Given the description of an element on the screen output the (x, y) to click on. 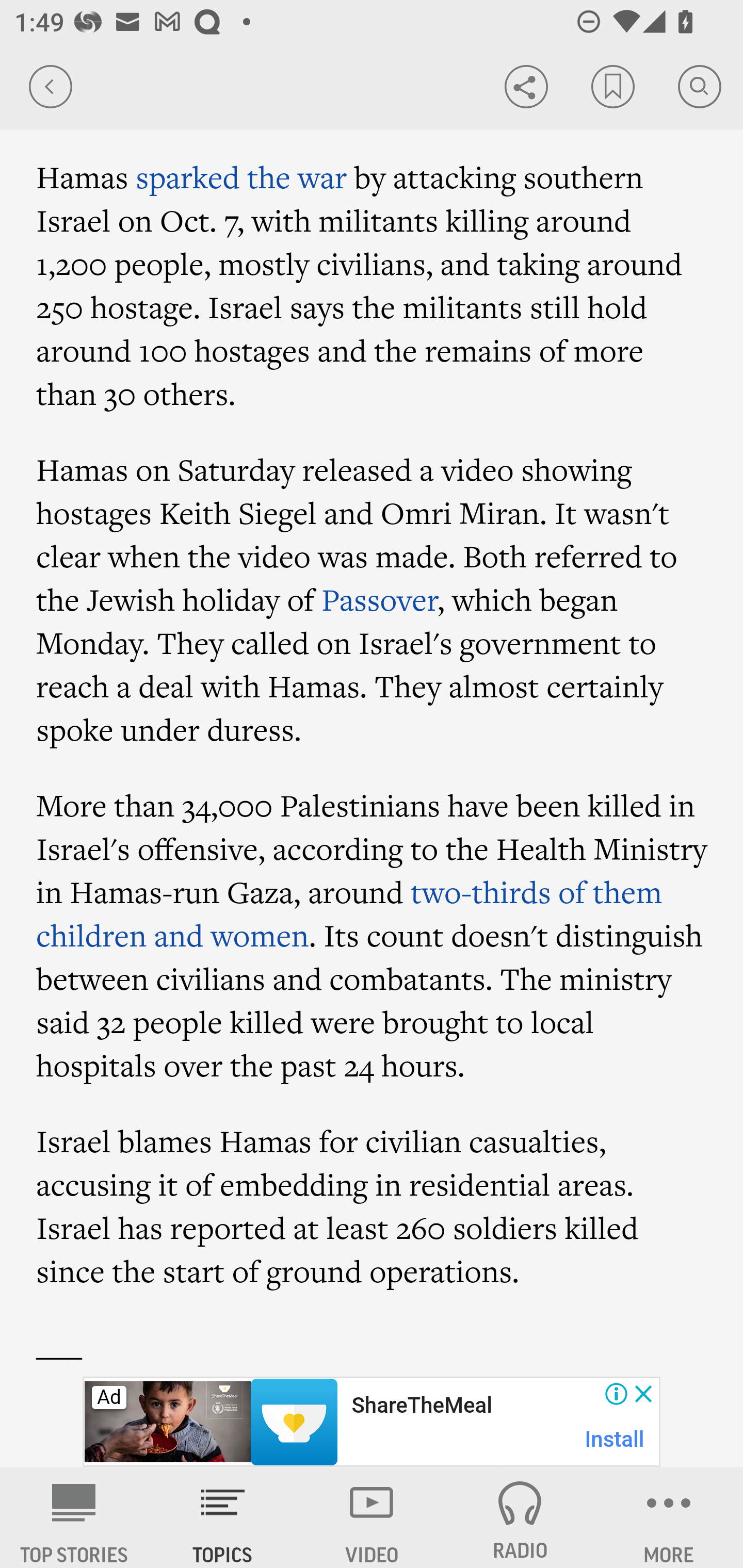
sparked the war (241, 177)
Passover (379, 598)
two-thirds of them children and women (349, 912)
ShareTheMeal (420, 1405)
Install (614, 1438)
AP News TOP STORIES (74, 1517)
TOPICS (222, 1517)
VIDEO (371, 1517)
RADIO (519, 1517)
MORE (668, 1517)
